Given the description of an element on the screen output the (x, y) to click on. 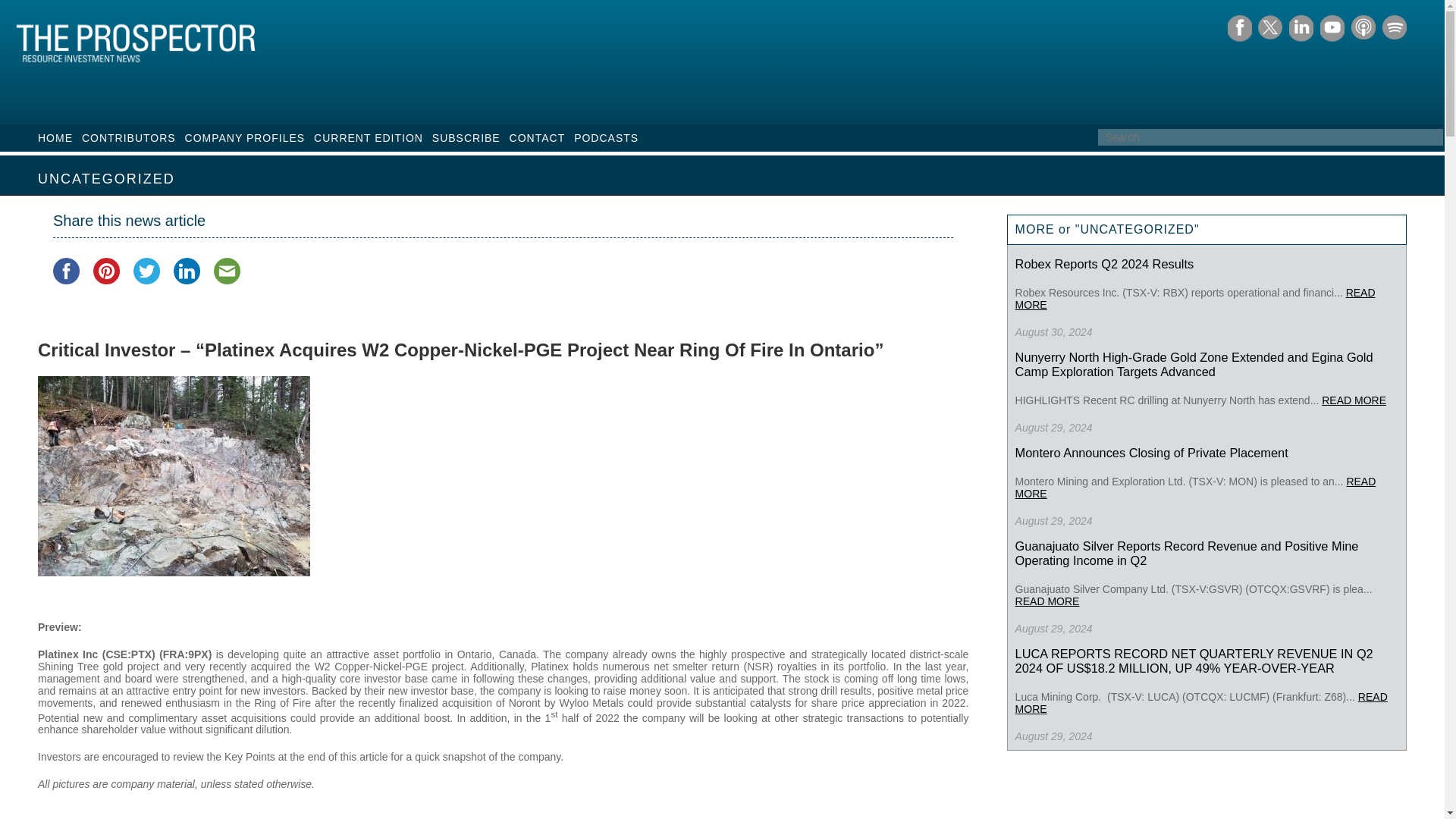
READ MORE (1354, 399)
email (227, 270)
twitter (146, 270)
SUBSCRIBE (466, 137)
linkedin (186, 270)
CURRENT EDITION (368, 137)
PODCASTS (606, 137)
READ MORE (1194, 298)
CONTACT (537, 137)
facebook (66, 270)
